Given the description of an element on the screen output the (x, y) to click on. 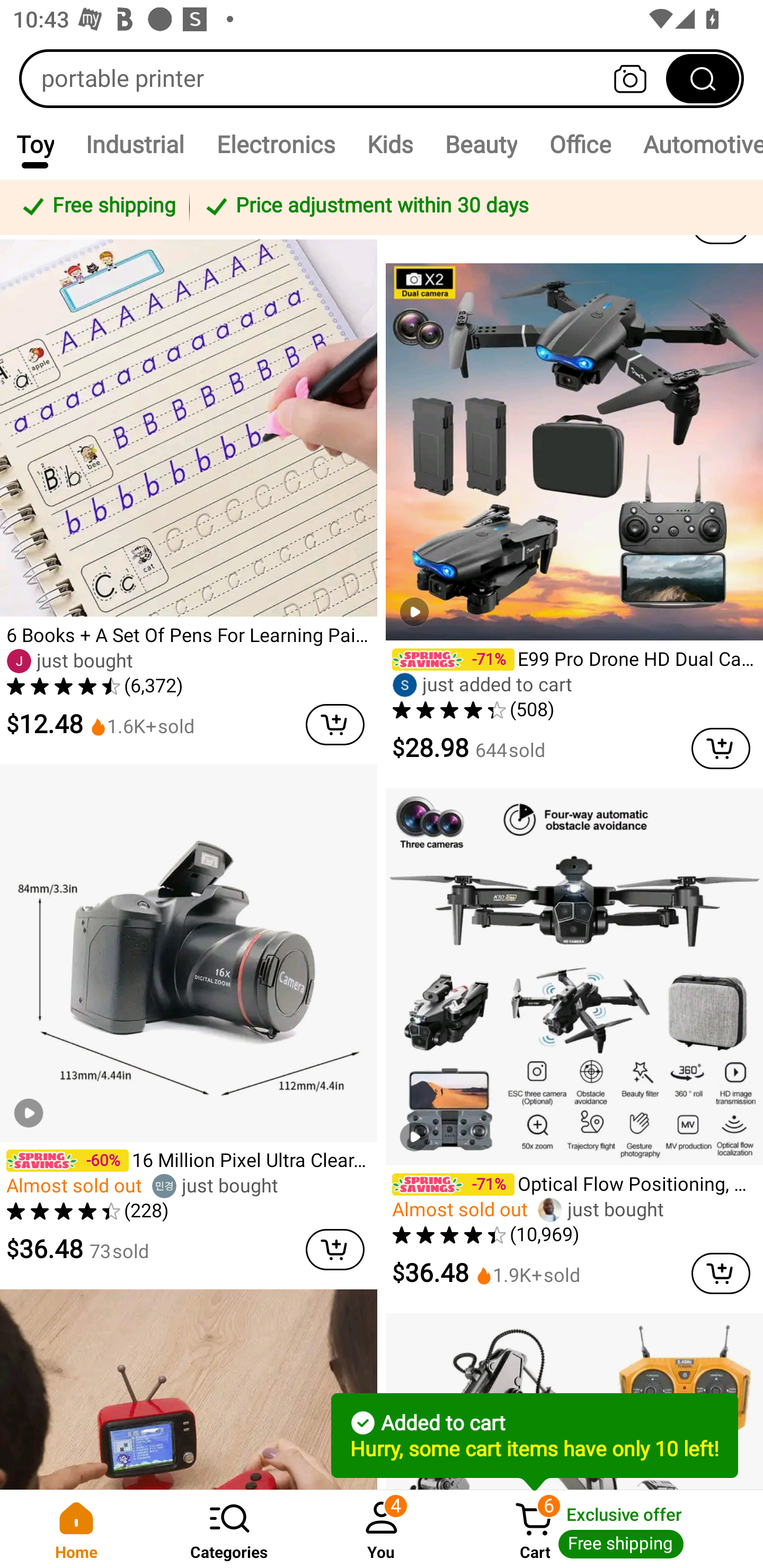
portable printer (381, 78)
Toy (35, 144)
Industrial (134, 144)
Electronics (274, 144)
Kids (389, 144)
Beauty (480, 144)
Office (580, 144)
Free shipping (97, 206)
Price adjustment within 30 days (472, 206)
cart delete (334, 724)
cart delete (720, 748)
cart delete (334, 1249)
cart delete (720, 1272)
Home (76, 1528)
Categories (228, 1528)
You 4 You (381, 1528)
Cart 6 Cart Exclusive offer (610, 1528)
